Given the description of an element on the screen output the (x, y) to click on. 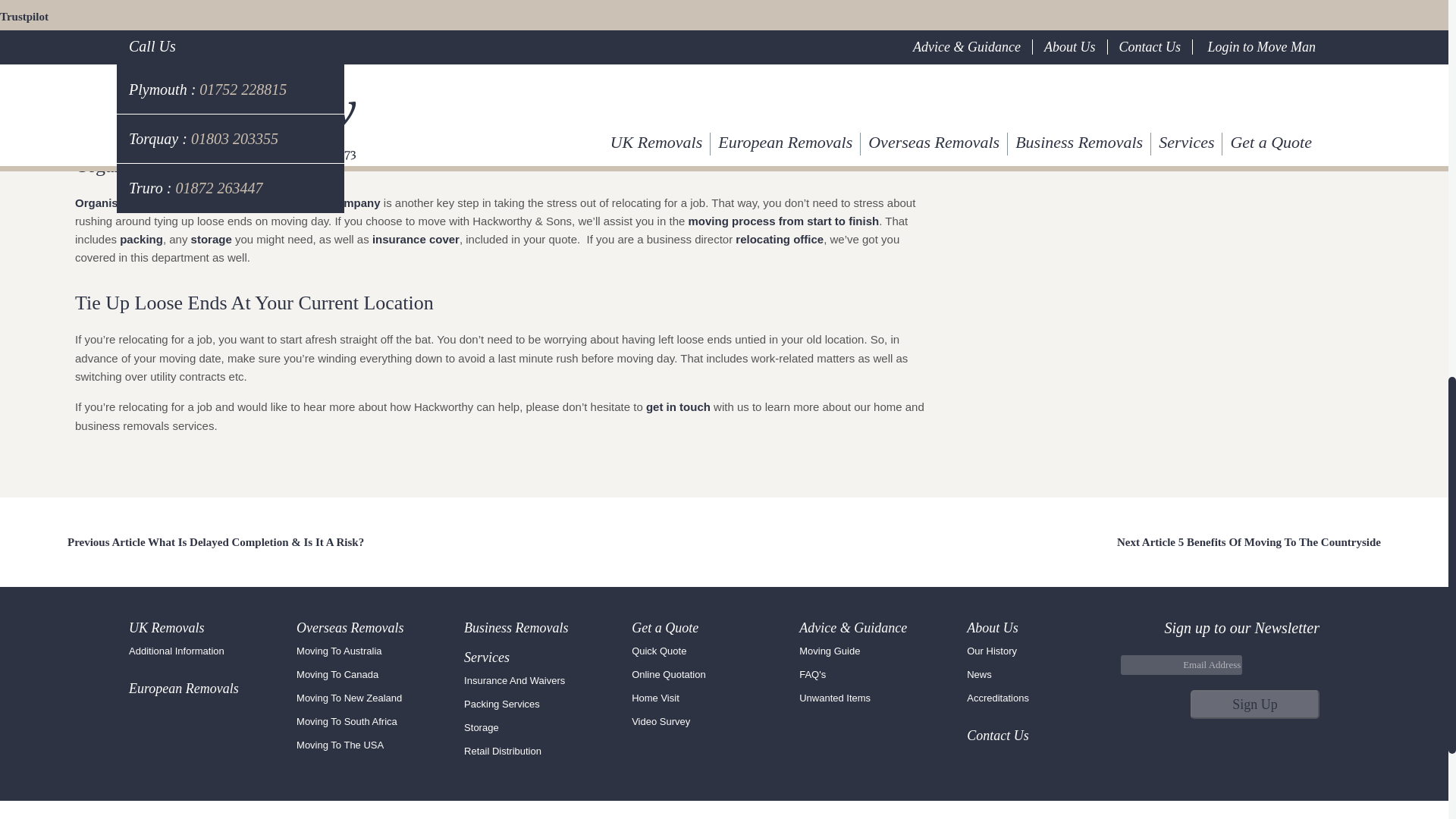
moving process from start to finish (783, 220)
Organising your move with a reliable removals company (227, 202)
packing (141, 238)
Sign Up (1255, 704)
